Given the description of an element on the screen output the (x, y) to click on. 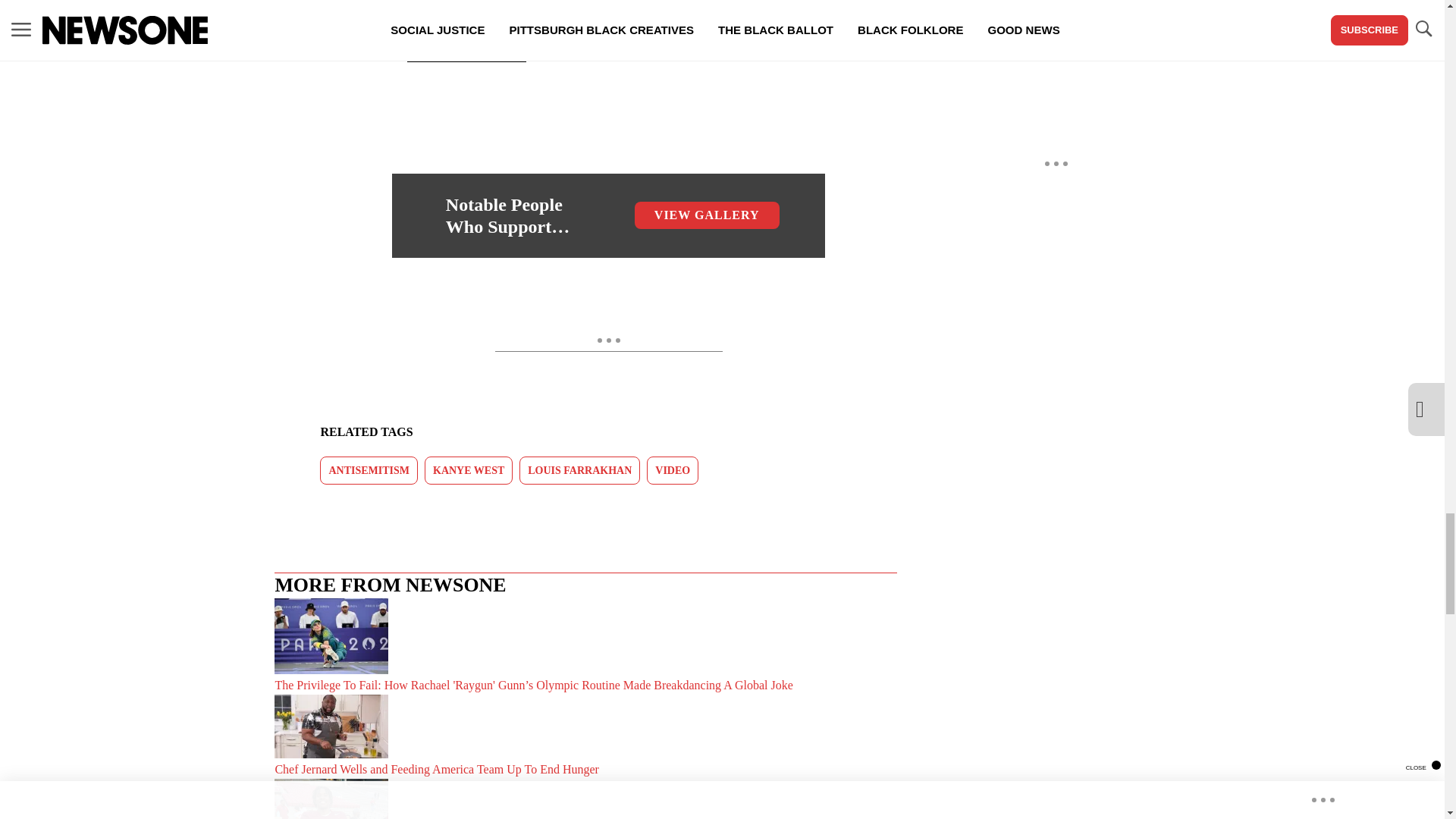
Media Playlist (466, 43)
KANYE WEST (468, 470)
Chef Jernard Wells and Feeding America Team Up To End Hunger (585, 736)
LOUIS FARRAKHAN (579, 470)
VIDEO (672, 470)
ANTISEMITISM (368, 470)
